Given the description of an element on the screen output the (x, y) to click on. 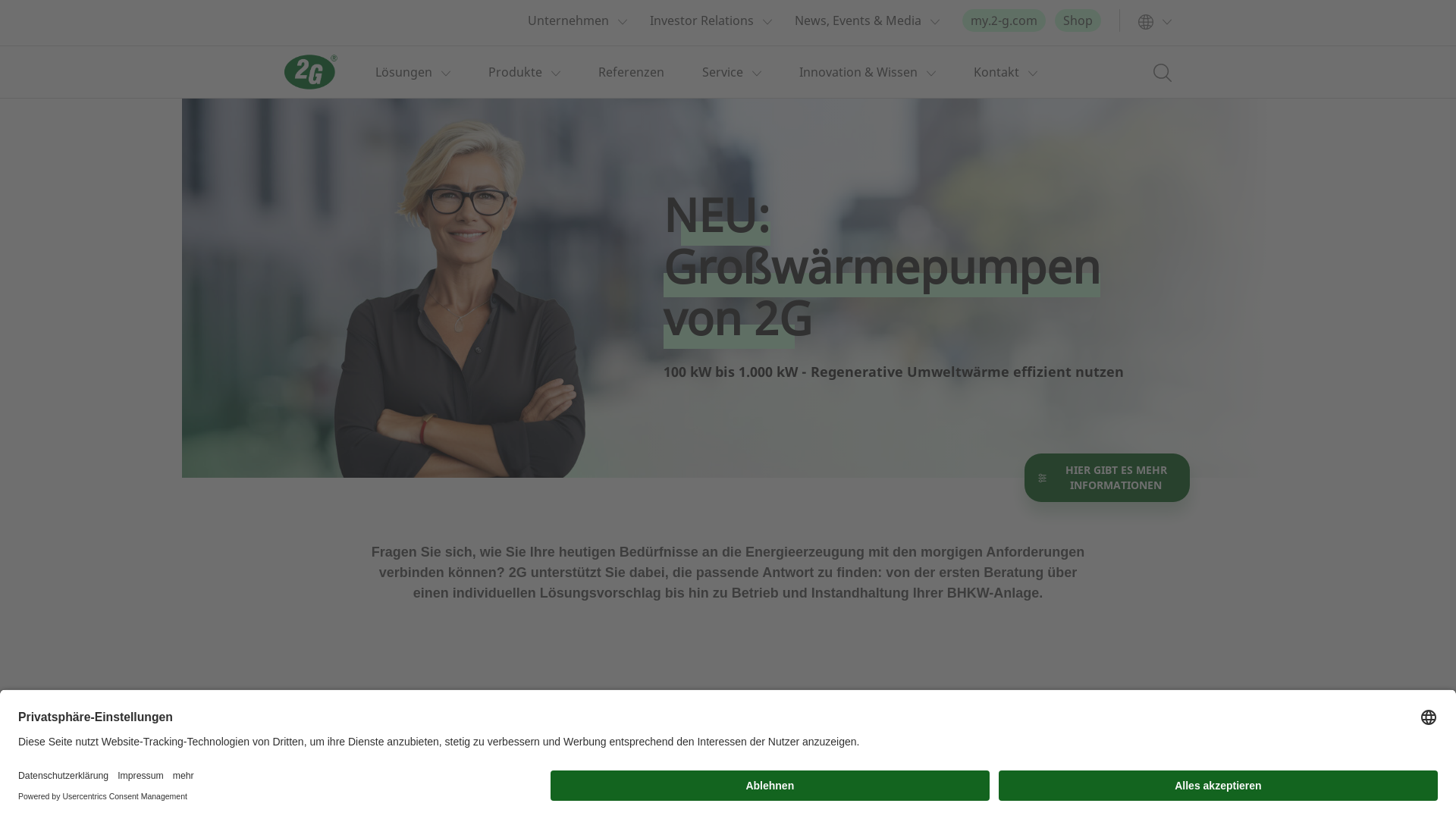
HIER GIBT ES MEHR INFORMATIONEN Element type: text (1106, 477)
Innovation & Wissen Element type: text (858, 71)
Referenzen Element type: text (631, 71)
Kontakt Element type: text (996, 71)
Produkte Element type: text (515, 71)
Service Element type: text (722, 71)
